Given the description of an element on the screen output the (x, y) to click on. 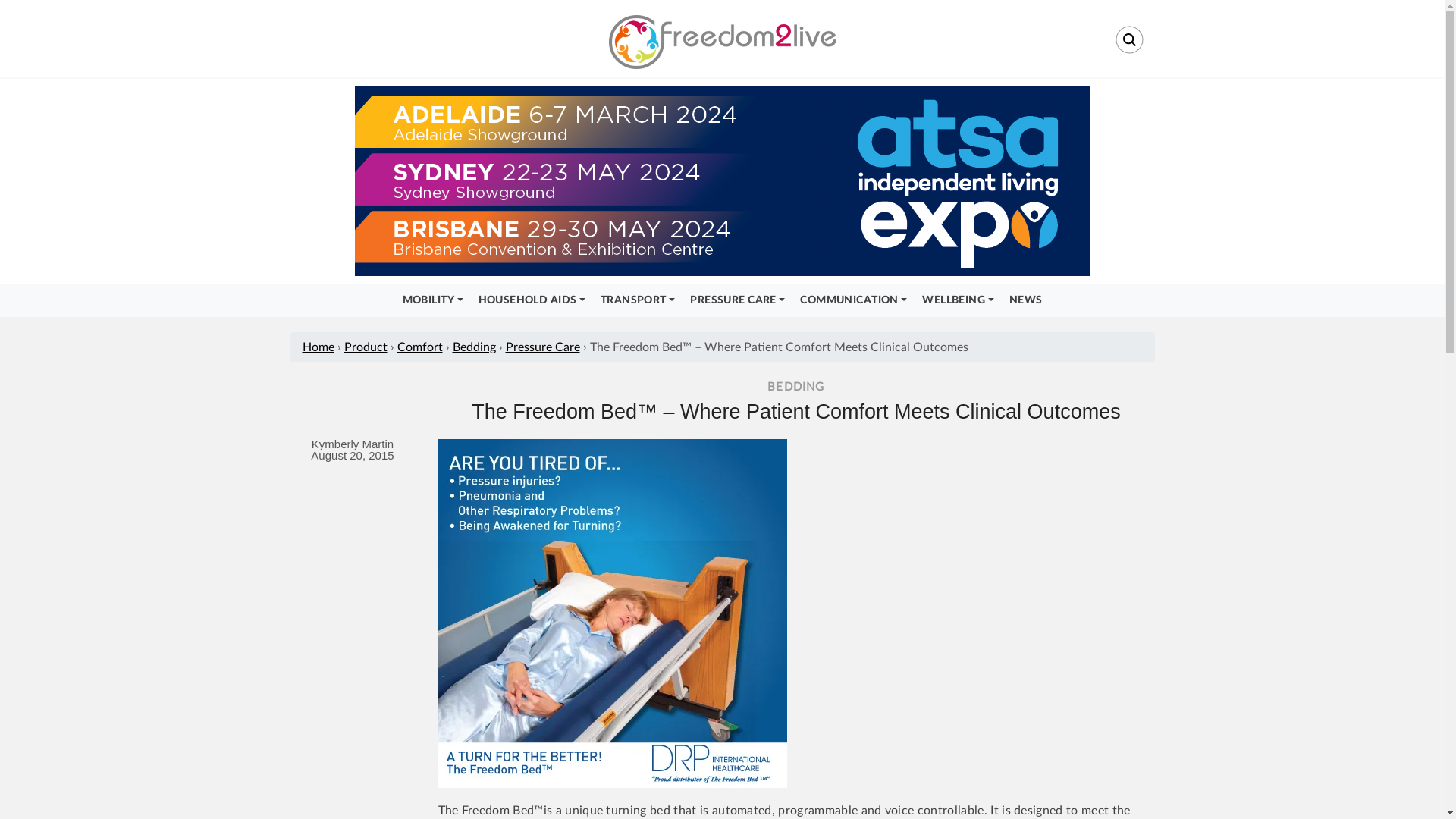
TRANSPORT Element type: text (637, 300)
COMMUNICATION Element type: text (853, 300)
BEDDING Element type: text (795, 387)
HOUSEHOLD AIDS Element type: text (531, 300)
Bedding Element type: text (473, 347)
Pressure Care Element type: text (542, 347)
Submit Element type: text (724, 433)
Comfort Element type: text (419, 347)
PRESSURE CARE Element type: text (737, 300)
Product Element type: text (365, 347)
Home Element type: text (317, 347)
WELLBEING Element type: text (957, 300)
NEWS Element type: text (1025, 300)
3rd party ad content Element type: hover (722, 181)
MOBILITY Element type: text (432, 300)
